Given the description of an element on the screen output the (x, y) to click on. 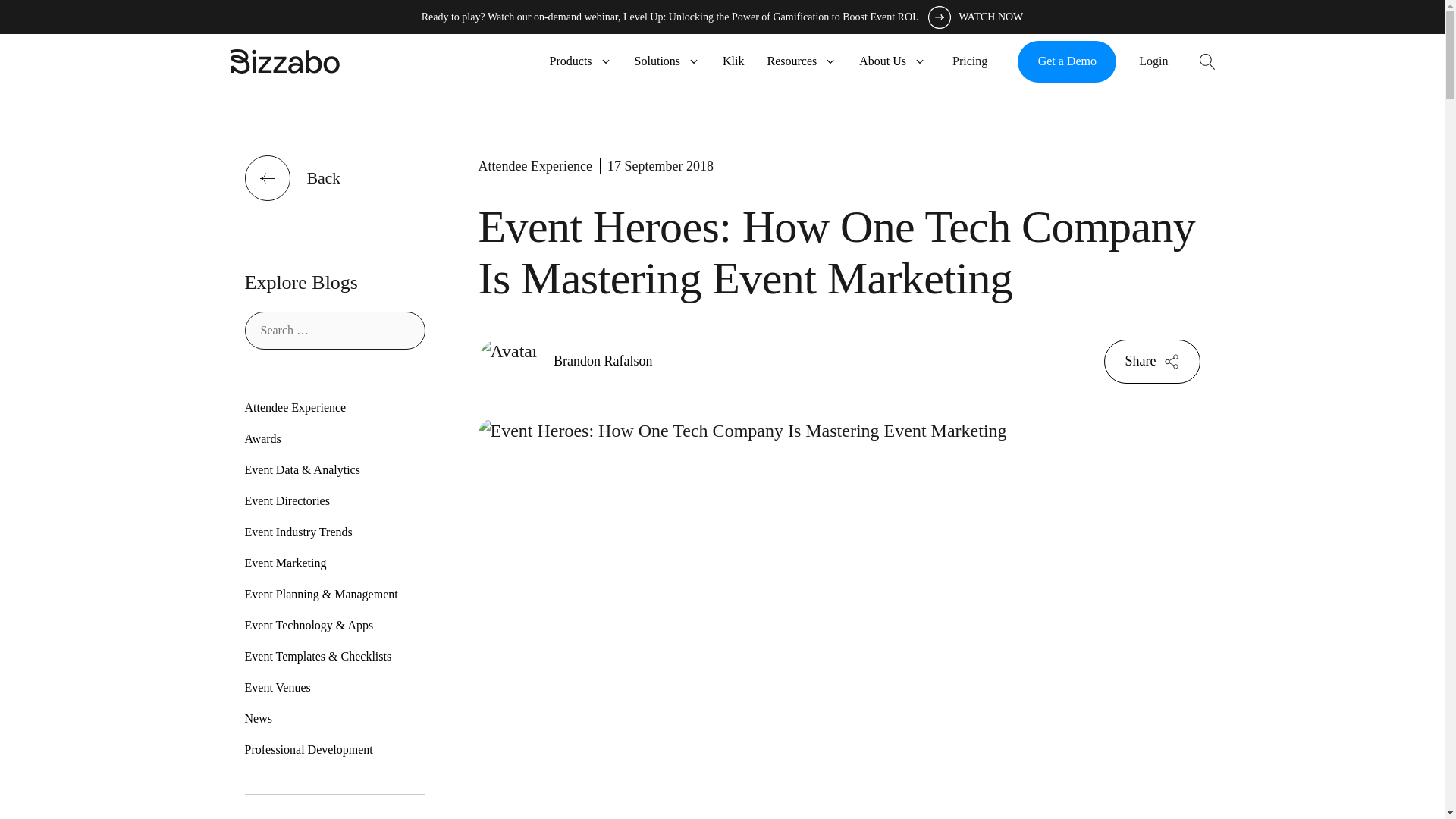
WATCH NOW (977, 17)
Products (580, 61)
Solutions (667, 61)
